Given the description of an element on the screen output the (x, y) to click on. 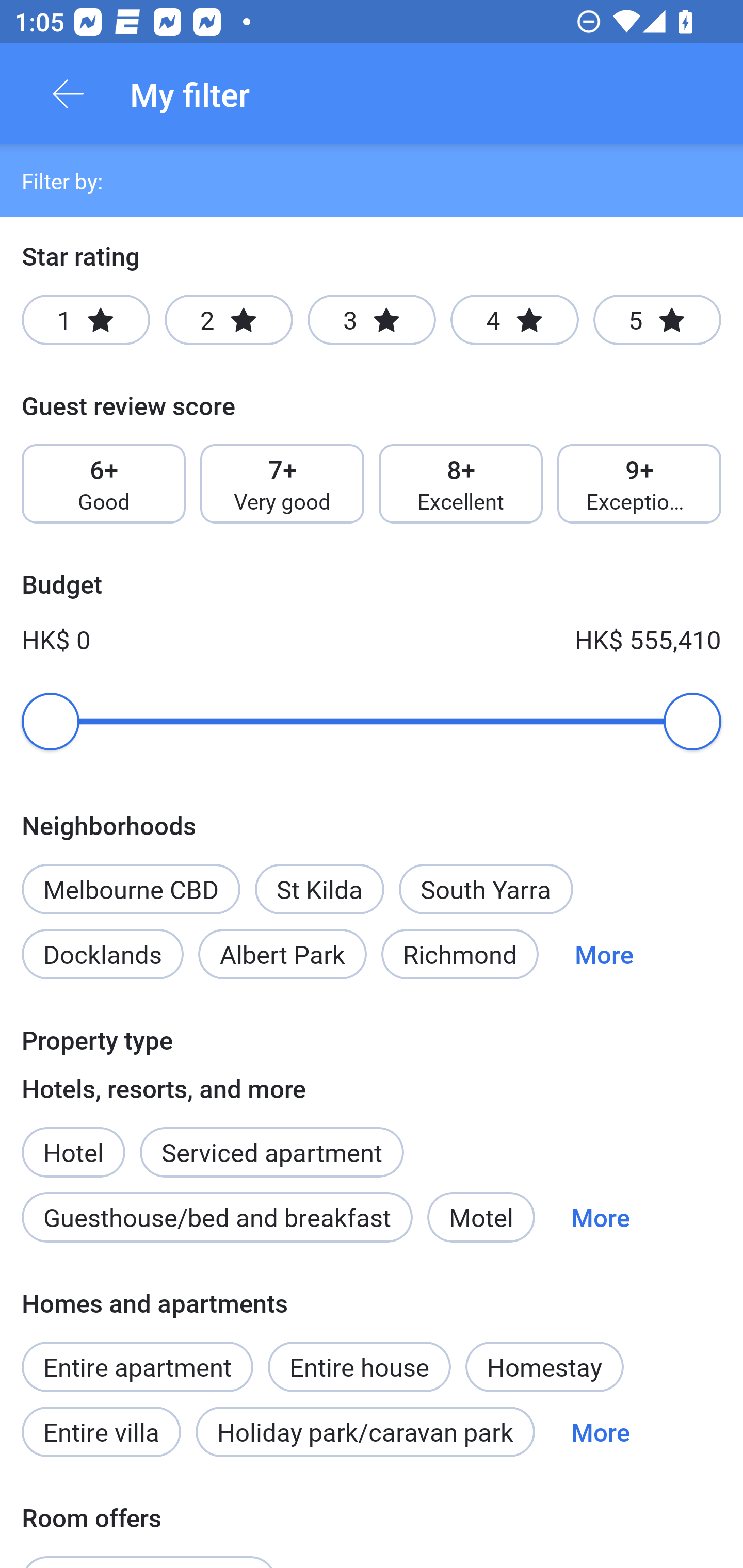
1 (85, 319)
2 (228, 319)
3 (371, 319)
4 (514, 319)
5 (657, 319)
6+ Good (103, 483)
7+ Very good (281, 483)
8+ Excellent (460, 483)
9+ Exceptional (639, 483)
Melbourne CBD (130, 888)
St Kilda (319, 888)
South Yarra (485, 888)
Docklands (102, 954)
Albert Park (282, 954)
Richmond (459, 954)
More (603, 954)
Hotel (73, 1141)
Serviced apartment (271, 1141)
Guesthouse/bed and breakfast (217, 1217)
Motel (480, 1217)
More (600, 1217)
Entire apartment (137, 1366)
Entire house (359, 1356)
Homestay (544, 1366)
Entire villa (101, 1432)
Holiday park/caravan park (364, 1432)
More (600, 1432)
